Given the description of an element on the screen output the (x, y) to click on. 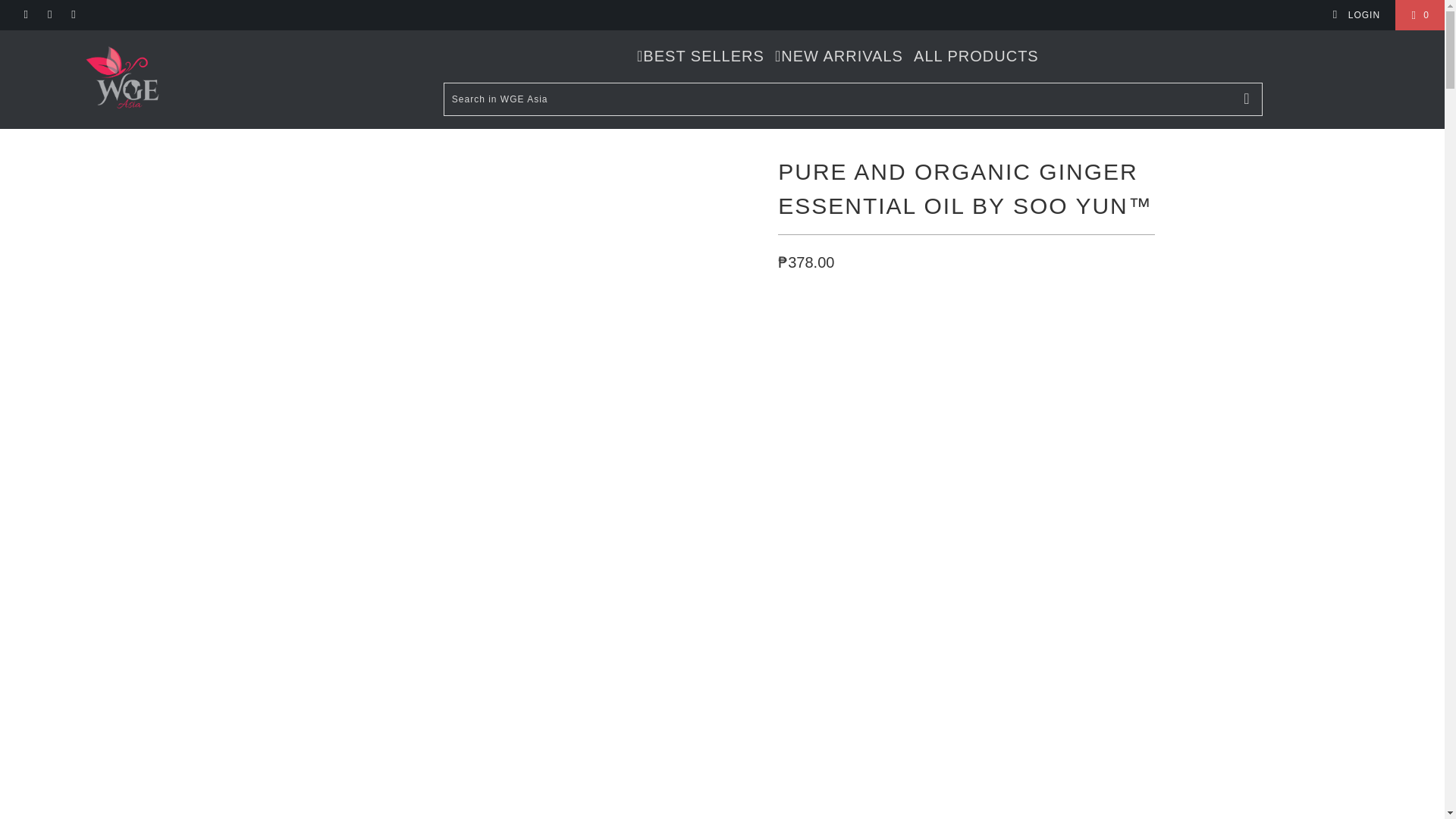
WeGotEverythingPhilippines on Instagram (48, 14)
Email WeGotEverythingPhilippines (73, 14)
ALL PRODUCTS (976, 56)
WeGotEverythingPhilippines (122, 79)
My Account  (1355, 15)
LOGIN (1355, 15)
WeGotEverythingPhilippines on Facebook (25, 14)
